Given the description of an element on the screen output the (x, y) to click on. 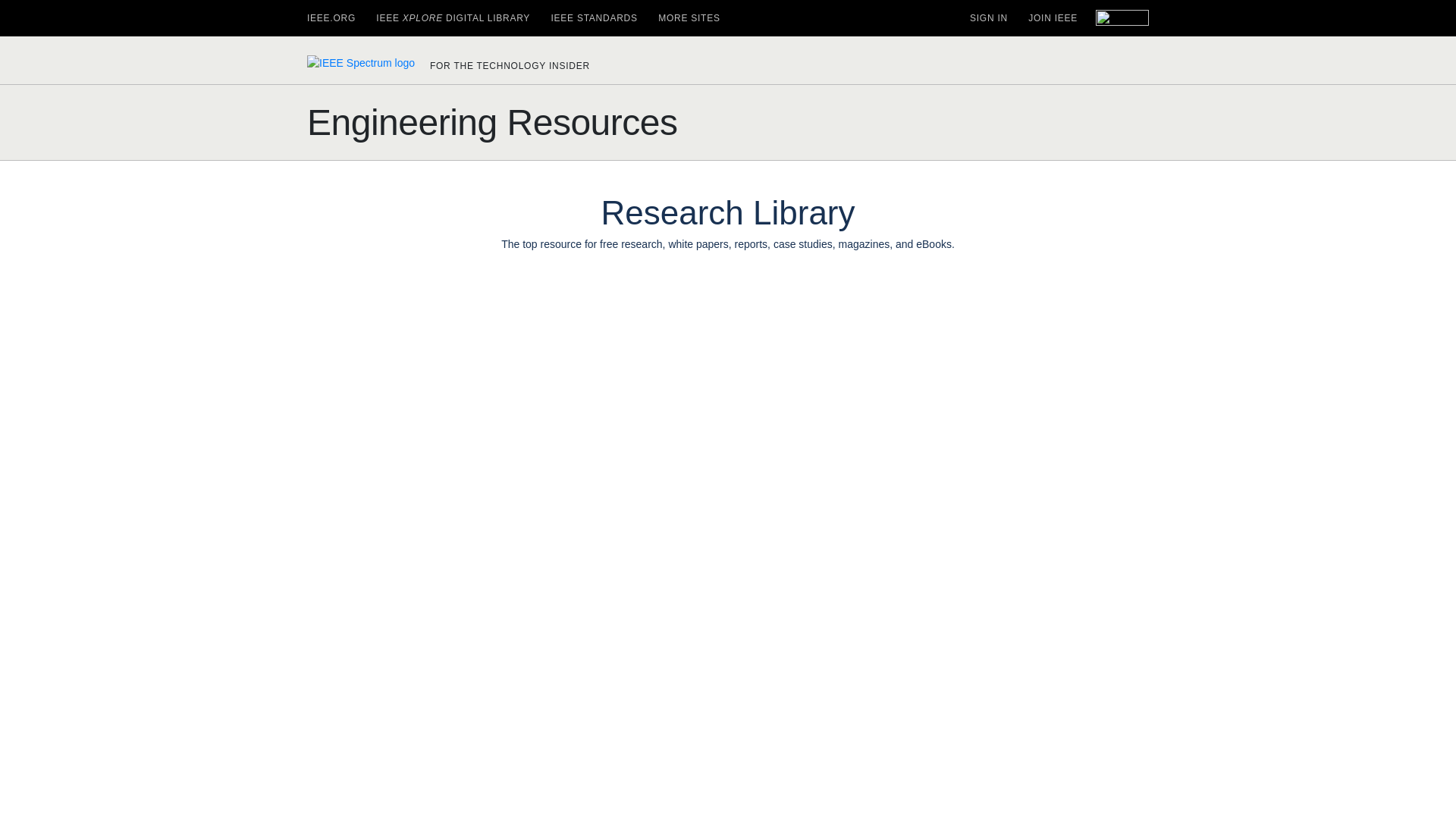
IEEE XPLORE DIGITAL LIBRARY (452, 18)
SIGN IN (988, 18)
IEEE.ORG (331, 18)
MORE SITES (689, 18)
IEEE STANDARDS (593, 18)
JOIN IEEE (1052, 18)
